Given the description of an element on the screen output the (x, y) to click on. 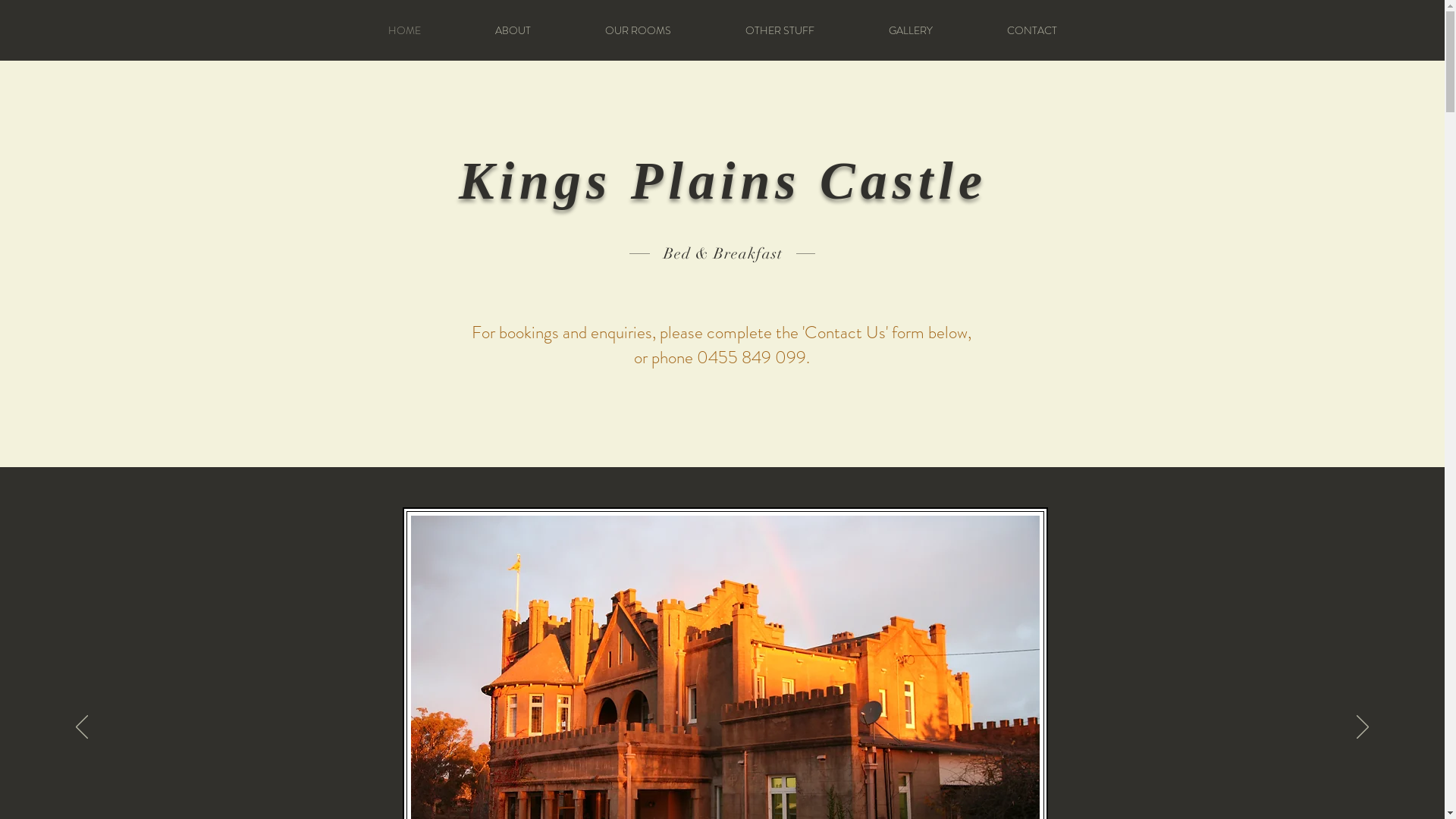
GALLERY Element type: text (909, 30)
ABOUT Element type: text (512, 30)
OTHER STUFF Element type: text (779, 30)
OUR ROOMS Element type: text (637, 30)
CONTACT Element type: text (1031, 30)
HOME Element type: text (403, 30)
